Given the description of an element on the screen output the (x, y) to click on. 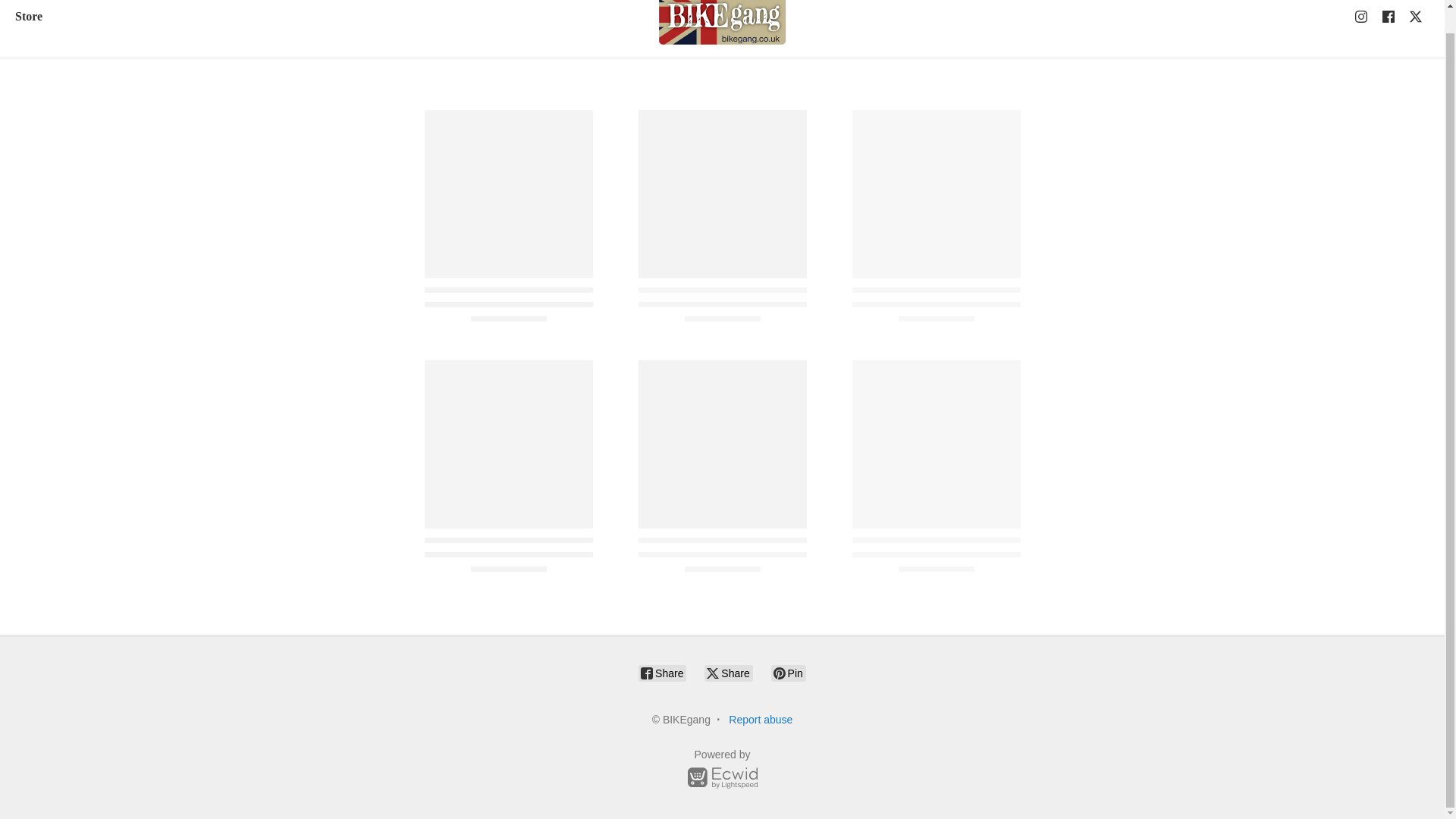
Store (28, 15)
Share (728, 673)
Report abuse (760, 719)
Pin (788, 673)
Powered by (722, 771)
Share (662, 673)
